Given the description of an element on the screen output the (x, y) to click on. 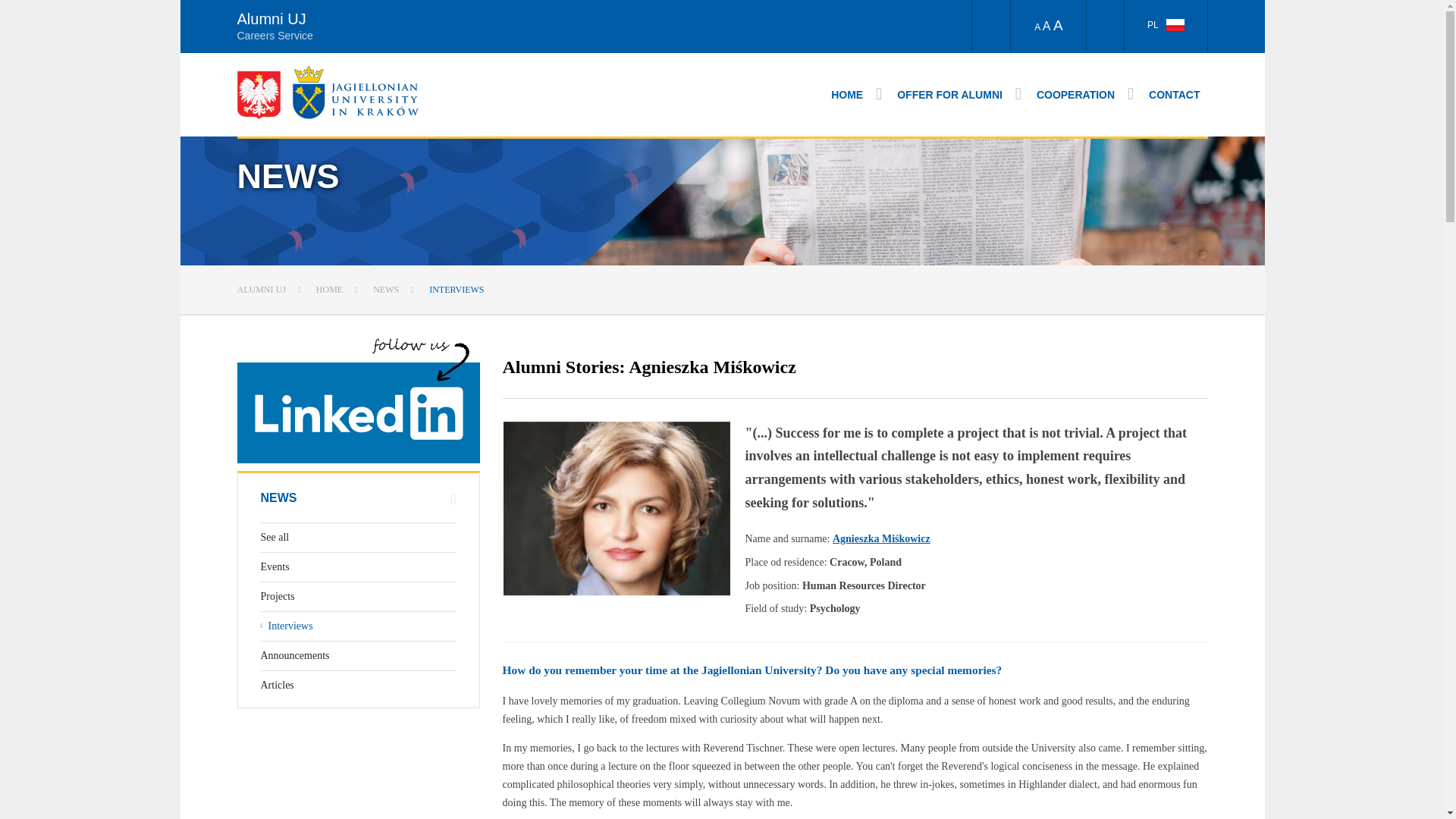
OFFER FOR ALUMNI (959, 94)
HOME (856, 94)
Careers Service (526, 33)
Alumni UJ (270, 18)
PL (1165, 26)
Jagiellonian University (355, 91)
Alumni UJ (270, 18)
Careers Service (526, 33)
polski (1175, 24)
